Given the description of an element on the screen output the (x, y) to click on. 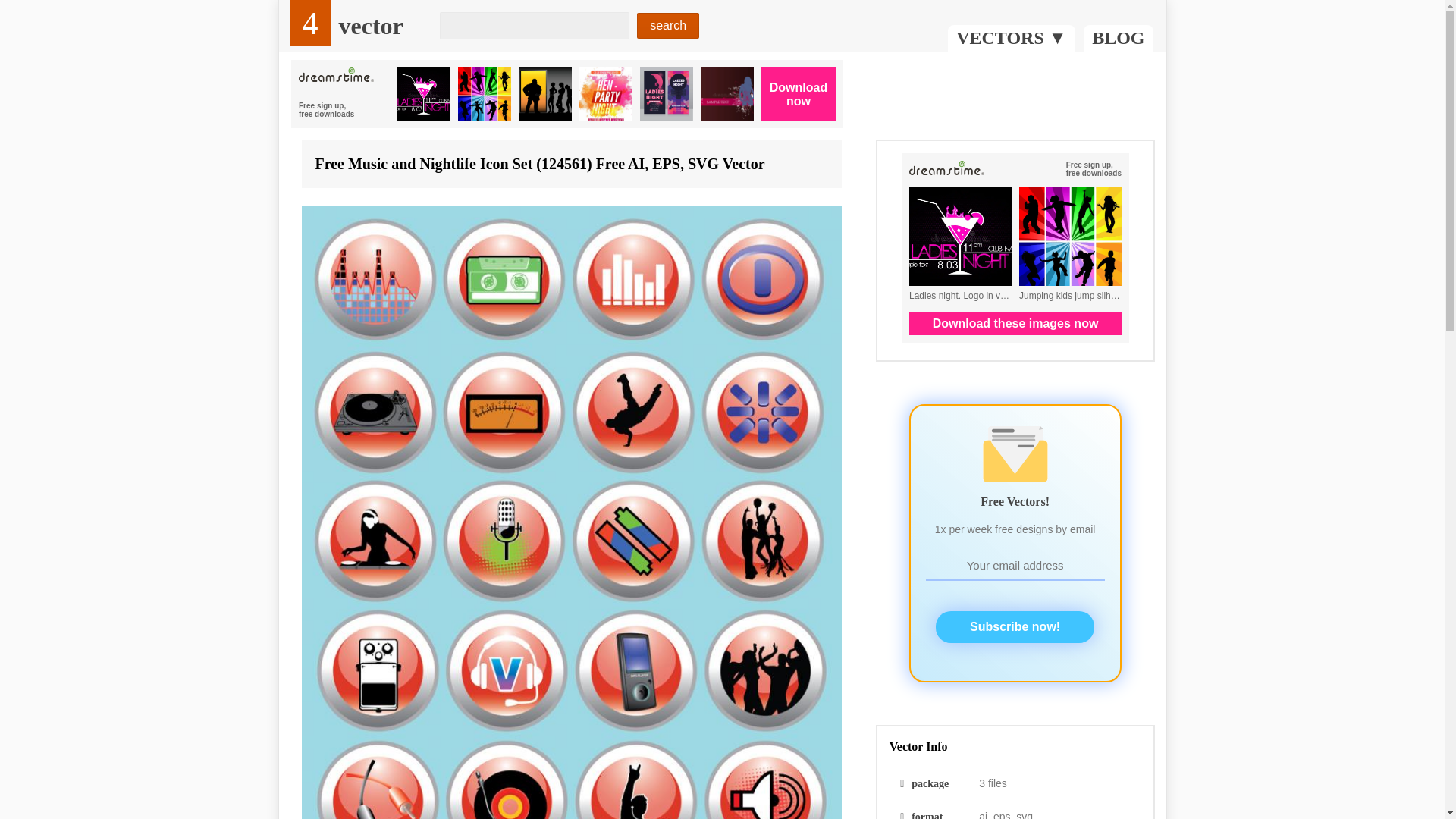
search (667, 25)
search (667, 25)
BLOG (370, 25)
